Given the description of an element on the screen output the (x, y) to click on. 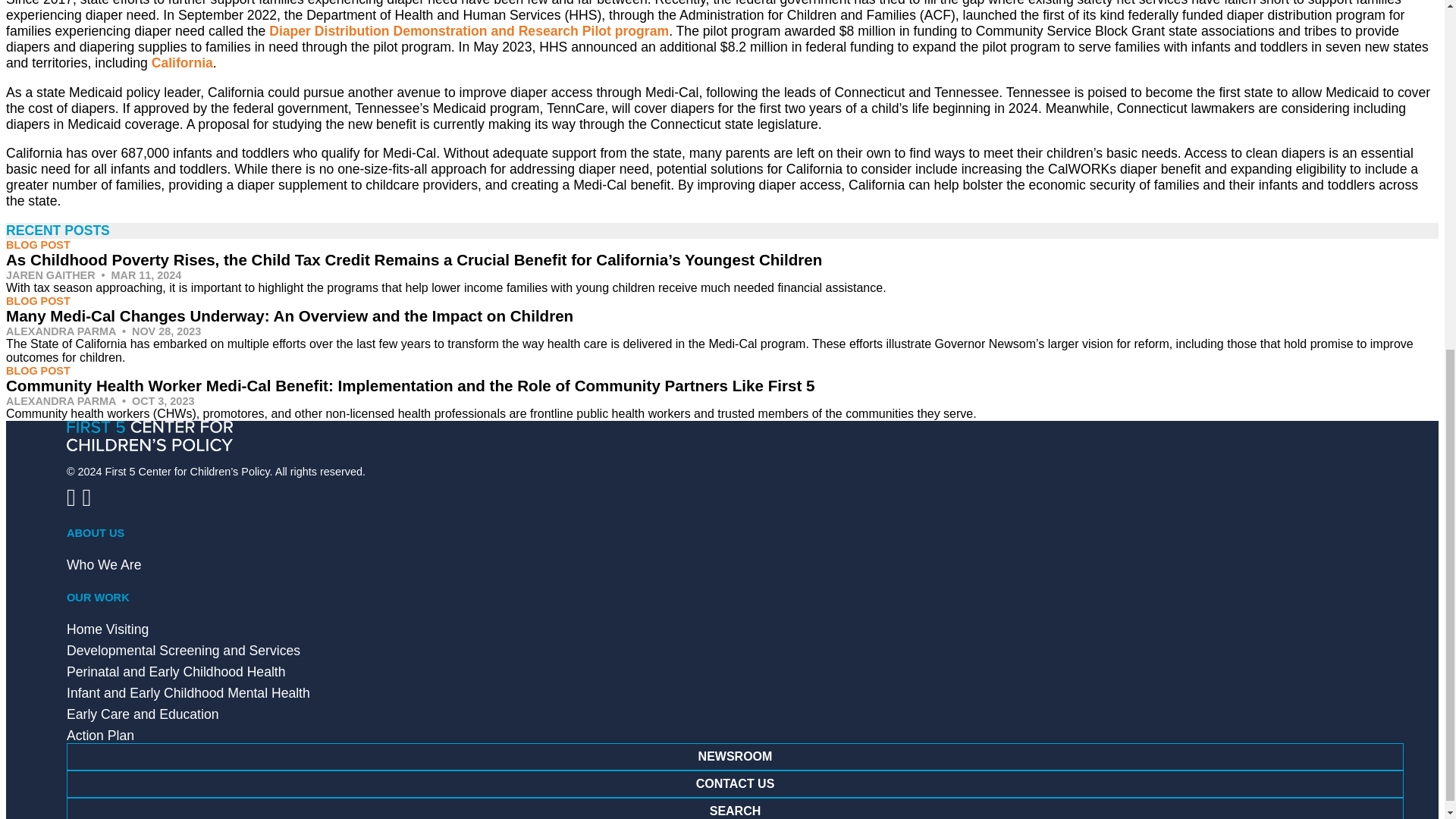
California (181, 62)
Who We Are (103, 564)
Diaper Distribution Demonstration and Research Pilot program (468, 30)
